Given the description of an element on the screen output the (x, y) to click on. 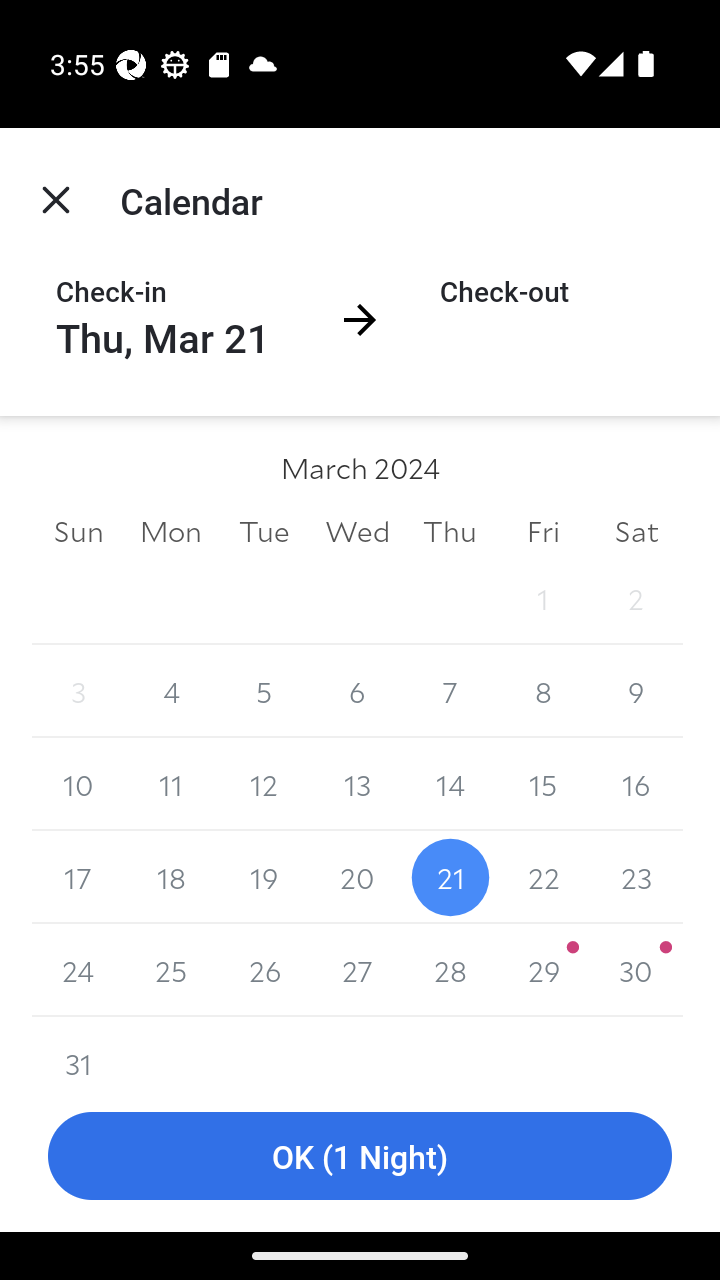
Sun (78, 530)
Mon (171, 530)
Tue (264, 530)
Wed (357, 530)
Thu (449, 530)
Fri (542, 530)
Sat (636, 530)
1 1 March 2024 (542, 598)
2 2 March 2024 (636, 598)
3 3 March 2024 (78, 691)
4 4 March 2024 (171, 691)
5 5 March 2024 (264, 691)
6 6 March 2024 (357, 691)
7 7 March 2024 (449, 691)
8 8 March 2024 (542, 691)
9 9 March 2024 (636, 691)
10 10 March 2024 (78, 784)
11 11 March 2024 (171, 784)
12 12 March 2024 (264, 784)
13 13 March 2024 (357, 784)
14 14 March 2024 (449, 784)
15 15 March 2024 (542, 784)
16 16 March 2024 (636, 784)
17 17 March 2024 (78, 877)
18 18 March 2024 (171, 877)
19 19 March 2024 (264, 877)
20 20 March 2024 (357, 877)
21 21 March 2024 (449, 877)
22 22 March 2024 (542, 877)
23 23 March 2024 (636, 877)
24 24 March 2024 (78, 970)
25 25 March 2024 (171, 970)
26 26 March 2024 (264, 970)
27 27 March 2024 (357, 970)
28 28 March 2024 (449, 970)
29 29 March 2024 (542, 970)
30 30 March 2024 (636, 970)
31 31 March 2024 (78, 1048)
OK (1 Night) (359, 1156)
